Given the description of an element on the screen output the (x, y) to click on. 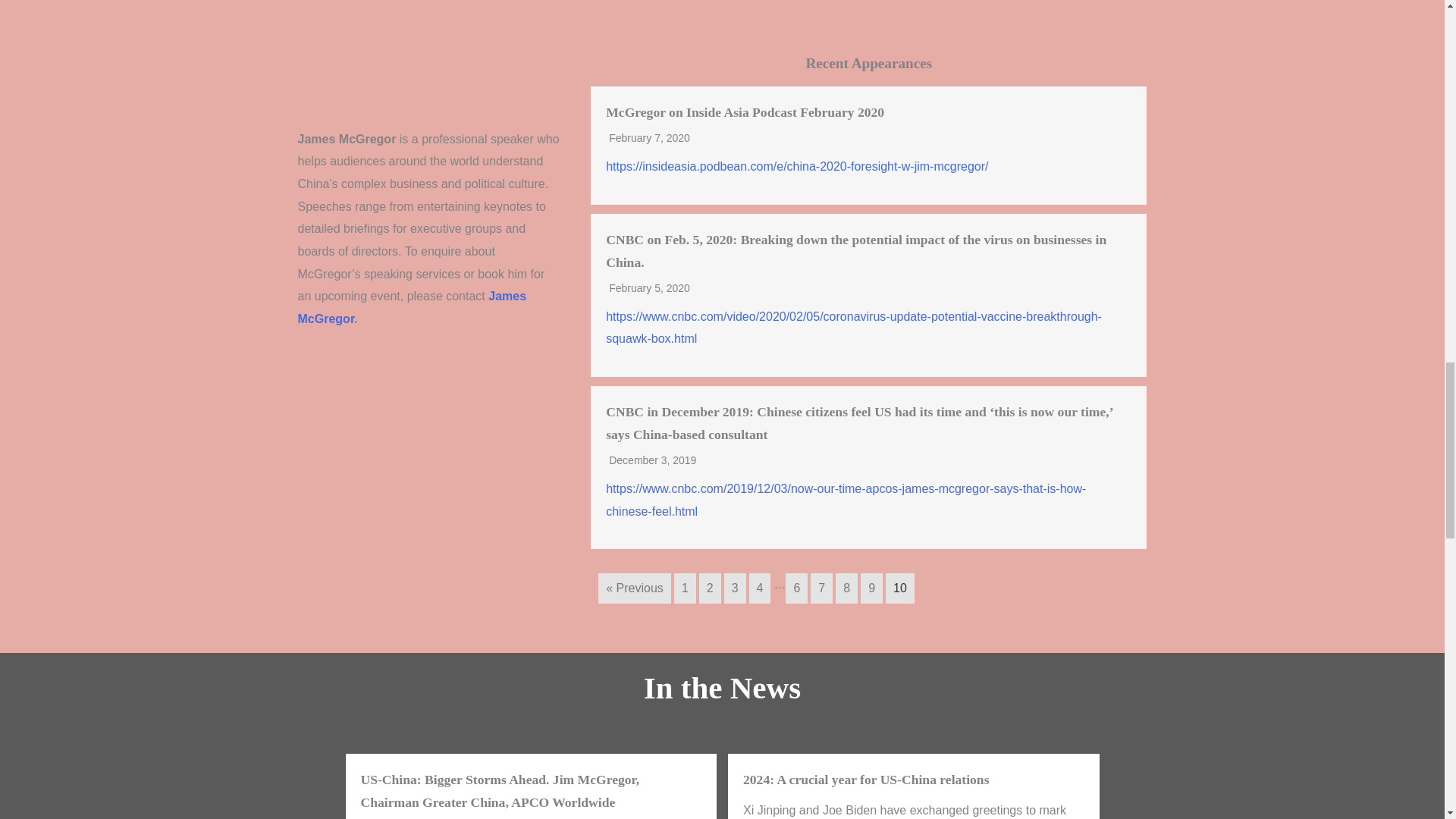
McGregor on Inside Asia Podcast February 2020 (744, 111)
James McGregor (412, 307)
